Given the description of an element on the screen output the (x, y) to click on. 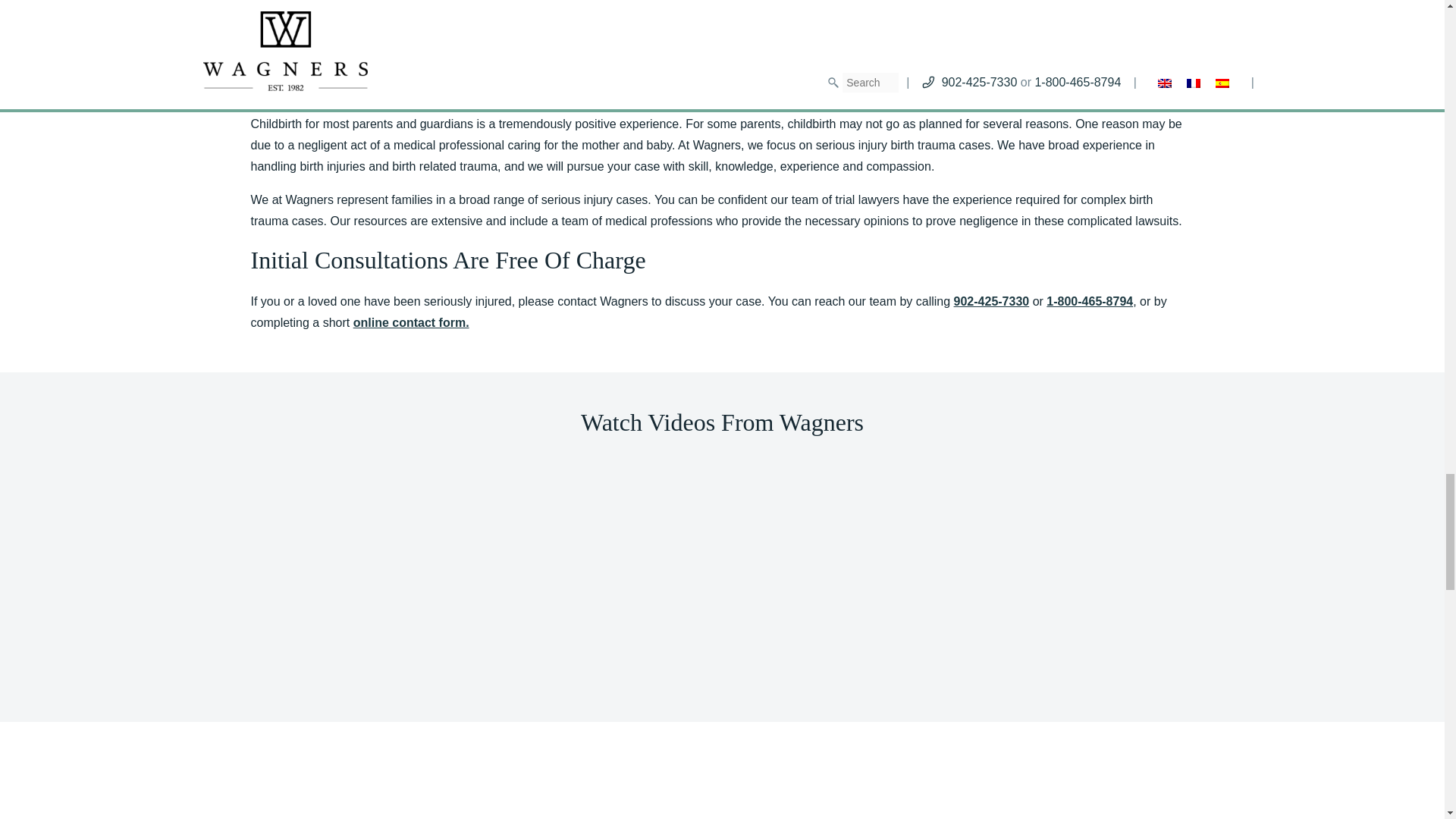
Wagners Commercial 3 - Capped (380, 555)
Wagners Commercial 3 - Capped (722, 555)
Wagners Commercial 3 - Capped (1062, 555)
